Given the description of an element on the screen output the (x, y) to click on. 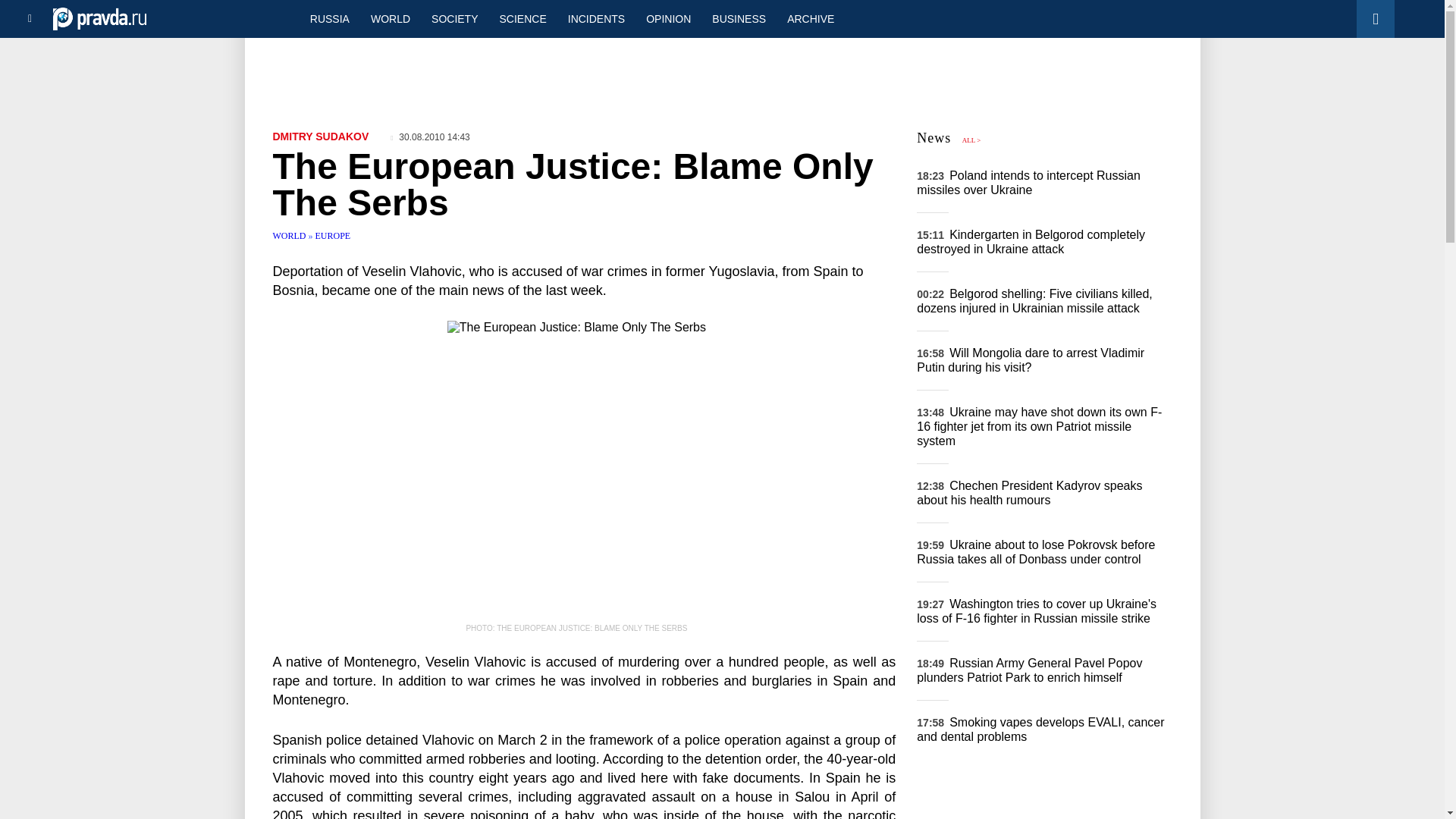
WORLD (389, 18)
Published (430, 136)
Chechen President Kadyrov speaks about his health rumours (1029, 492)
OPINION (667, 18)
INCIDENTS (595, 18)
Poland intends to intercept Russian missiles over Ukraine (1028, 182)
EUROPE (332, 235)
